Given the description of an element on the screen output the (x, y) to click on. 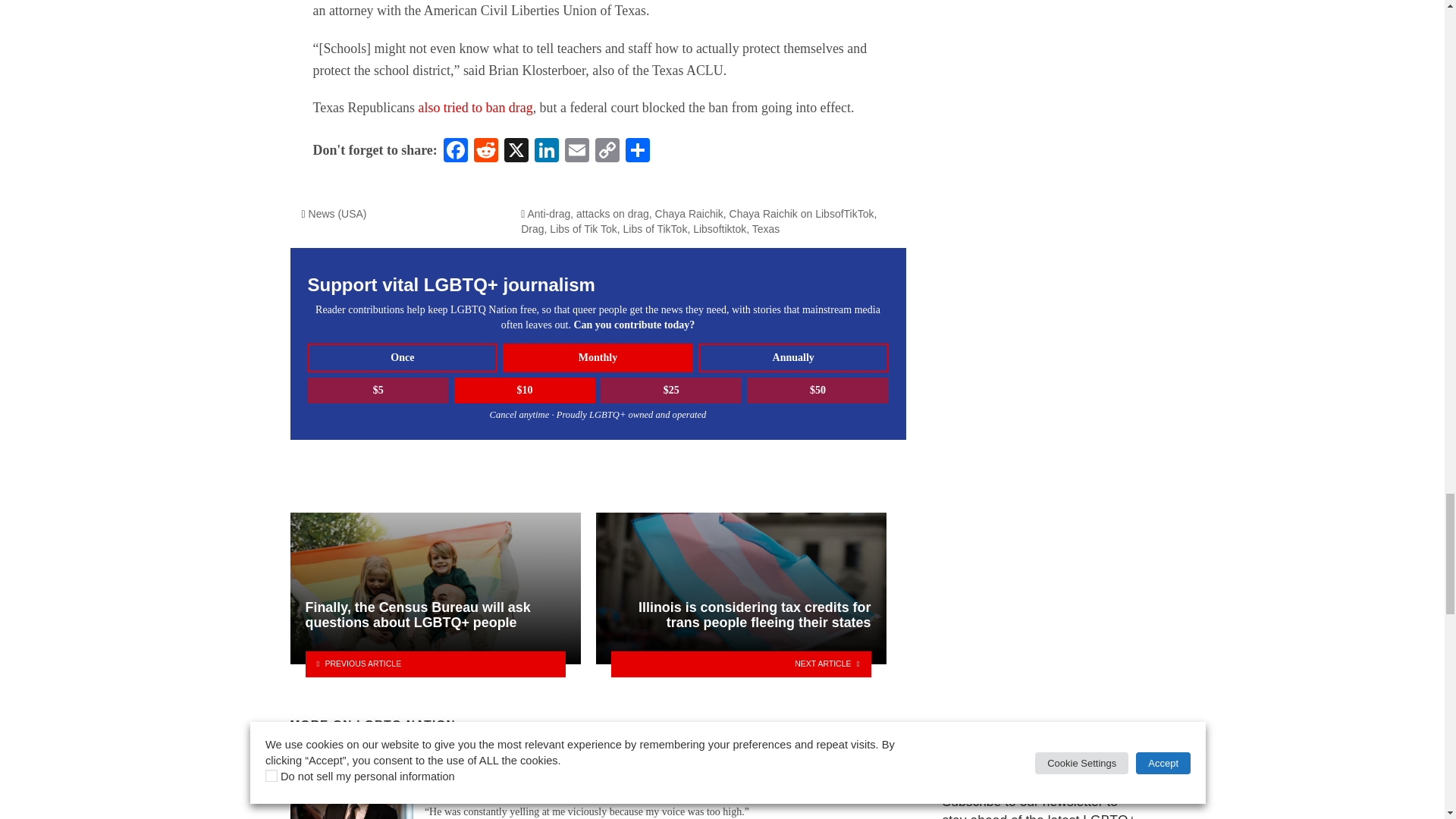
Email (577, 152)
Reddit (485, 152)
LinkedIn (546, 152)
Facebook (455, 152)
also tried to ban drag (474, 107)
X (515, 152)
Reddit (485, 152)
Facebook (455, 152)
Email (577, 152)
LinkedIn (546, 152)
Copy Link (607, 152)
X (515, 152)
